Given the description of an element on the screen output the (x, y) to click on. 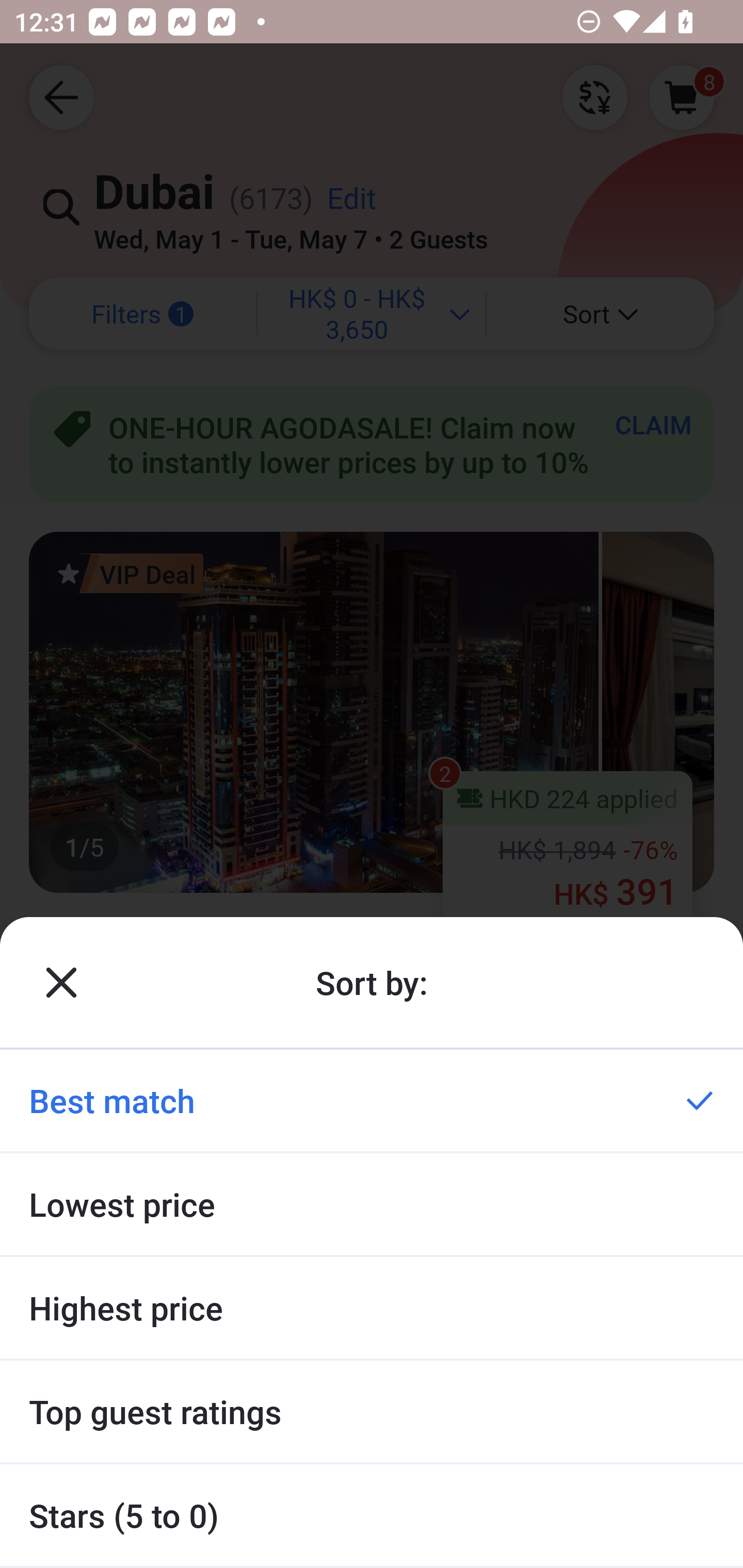
Best match (371, 1099)
Lowest price (371, 1204)
Highest price (371, 1307)
Top guest ratings (371, 1411)
Stars (5 to 0) (371, 1515)
